Given the description of an element on the screen output the (x, y) to click on. 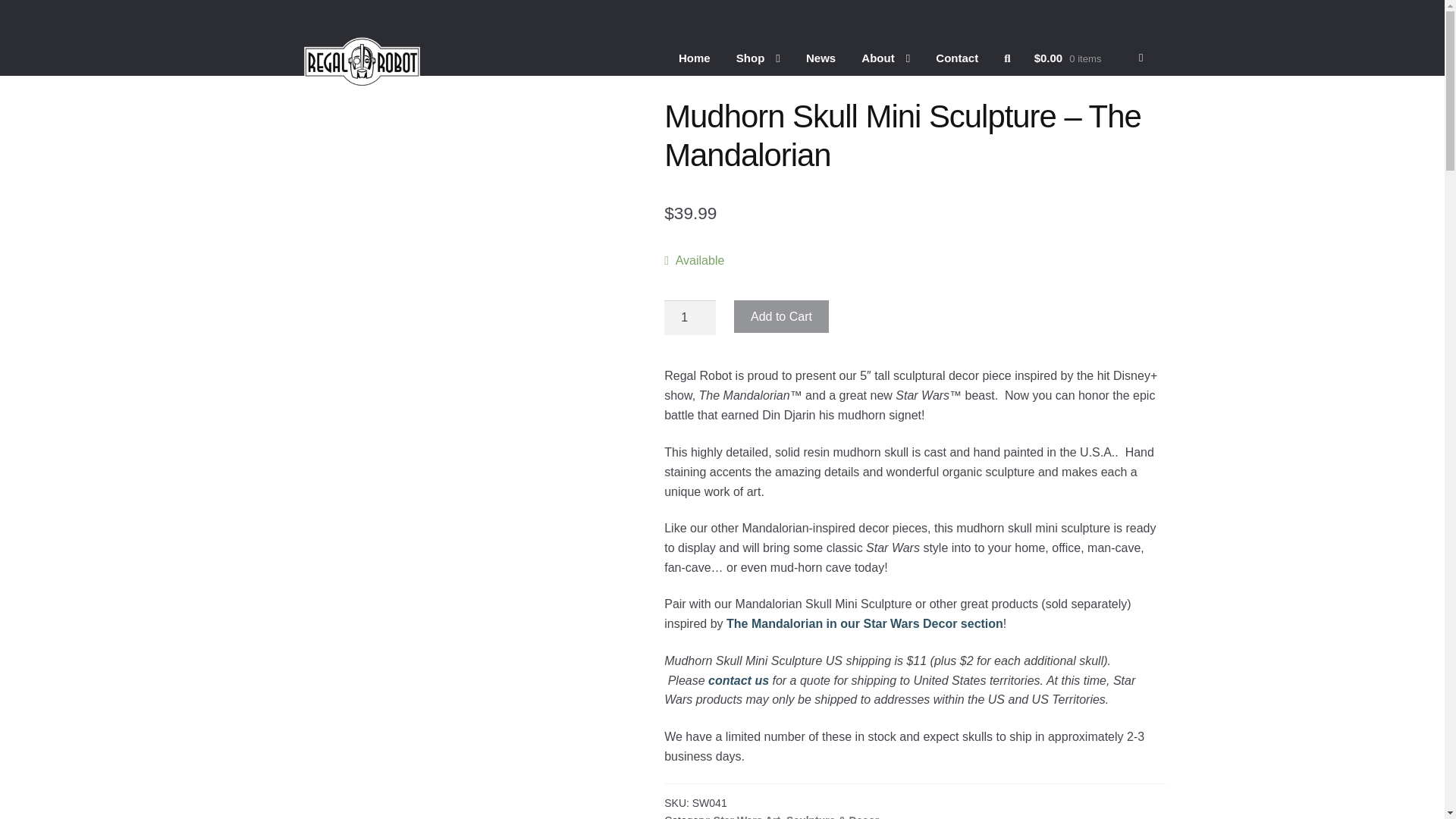
About (885, 57)
1 (689, 317)
Home (694, 57)
View your shopping cart (1087, 57)
News (820, 57)
Contact (957, 57)
Shop (758, 57)
